Given the description of an element on the screen output the (x, y) to click on. 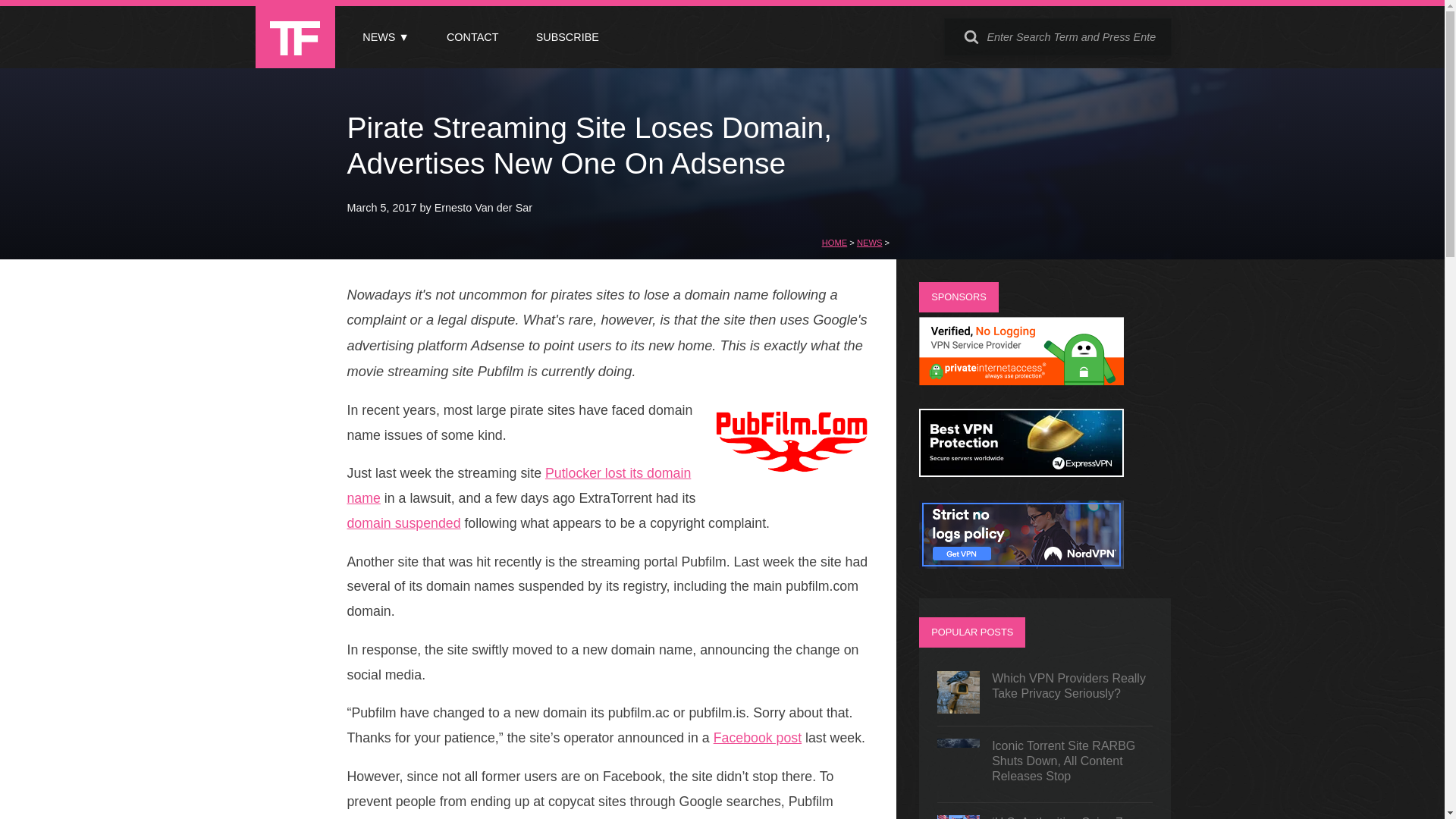
Facebook post (757, 737)
Which VPN Providers Really Take Privacy Seriously? (1045, 691)
Go to TorrentFreak. (834, 242)
CONTACT (471, 37)
domain suspended (404, 522)
Private Internet Access (1021, 380)
Ernesto Van der Sar (482, 207)
Putlocker lost its domain name (519, 486)
SUBSCRIBE (566, 37)
Go to the News category archives. (869, 242)
NEWS (869, 242)
ExpressVPN (1021, 472)
HOME (834, 242)
